Given the description of an element on the screen output the (x, y) to click on. 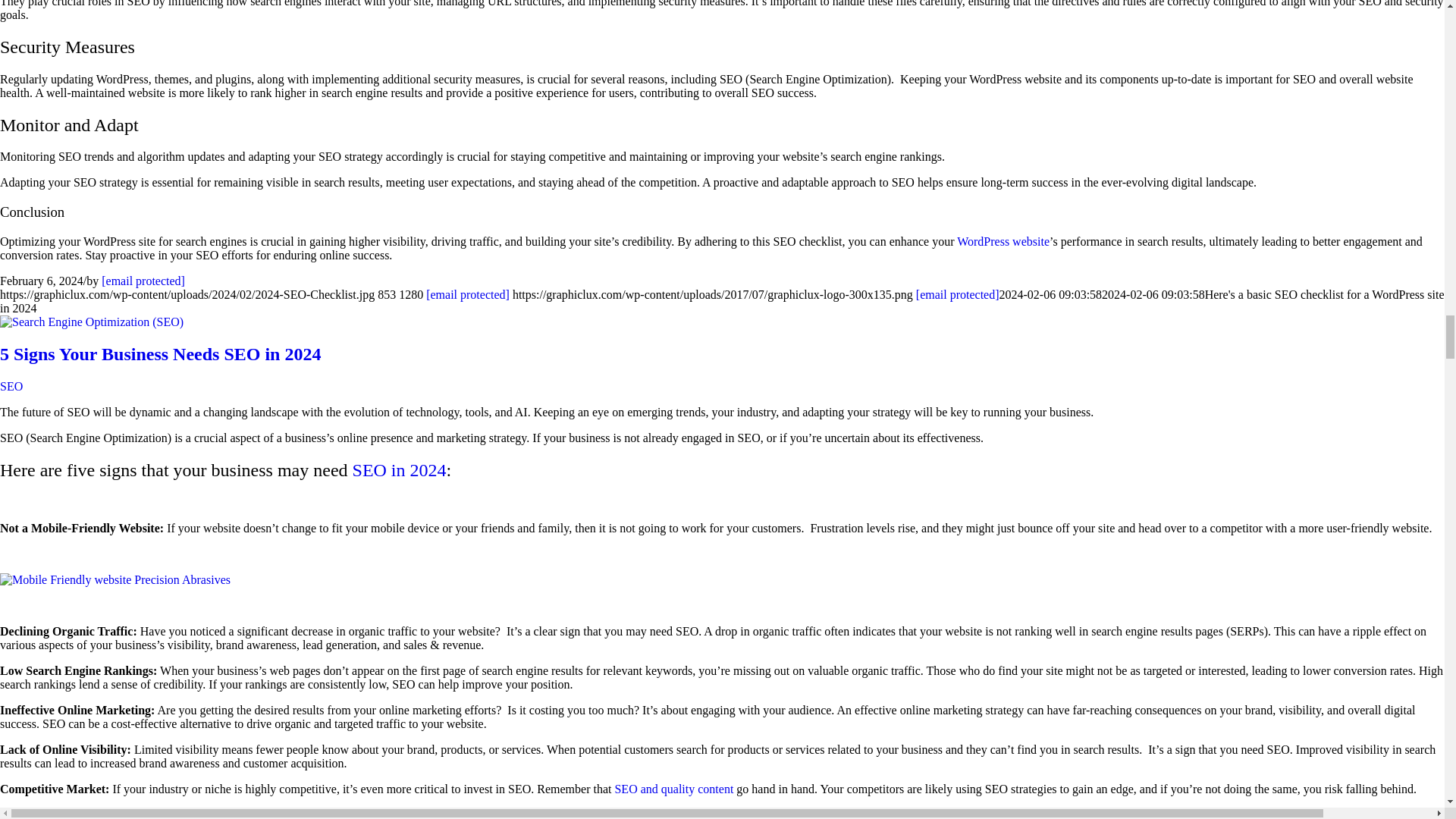
Permanent Link: 5 Signs Your Business Needs SEO in 2024 (160, 353)
